Given the description of an element on the screen output the (x, y) to click on. 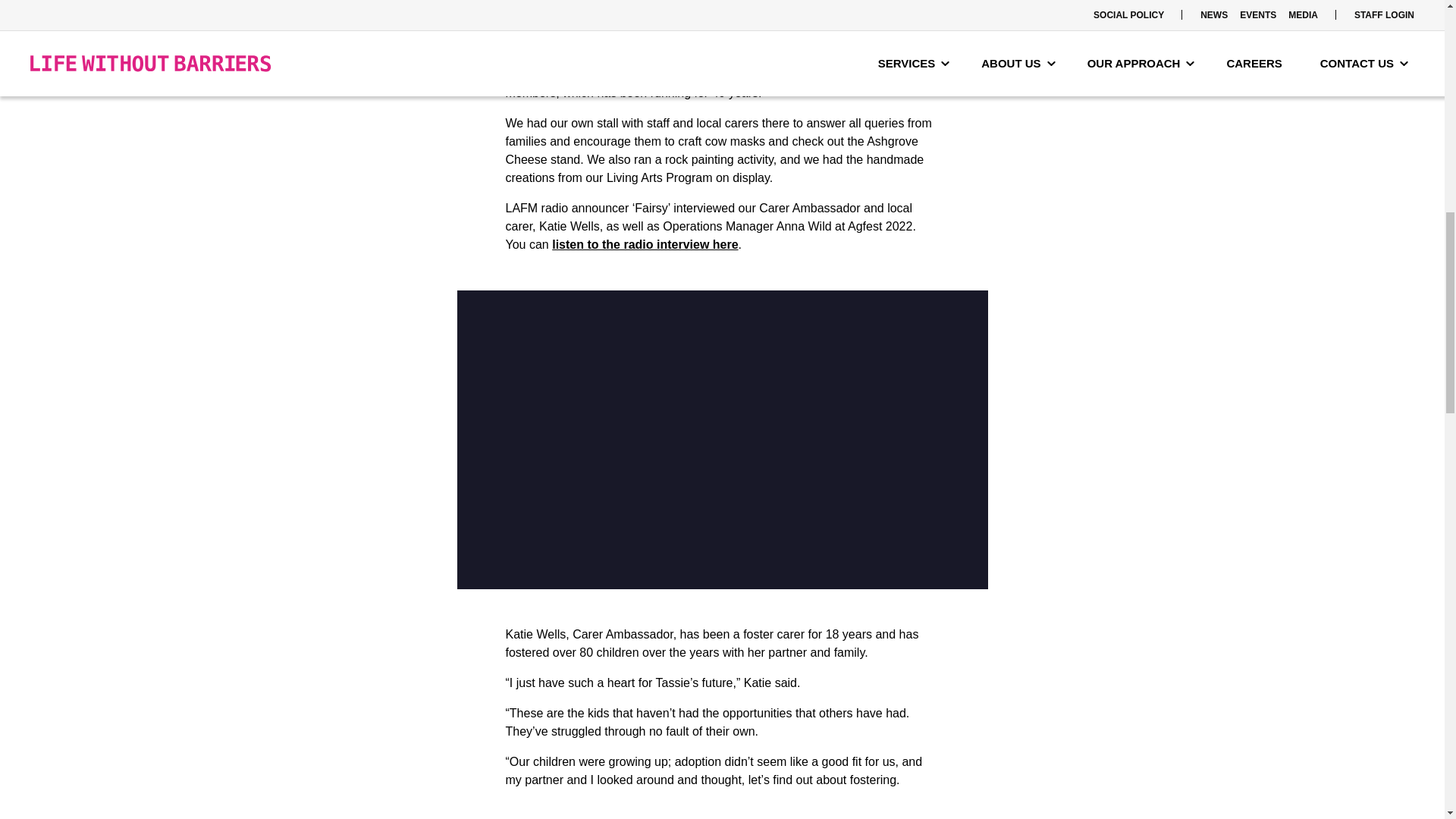
AgFest 2022 (780, 56)
listen to the radio interview here (644, 244)
